Given the description of an element on the screen output the (x, y) to click on. 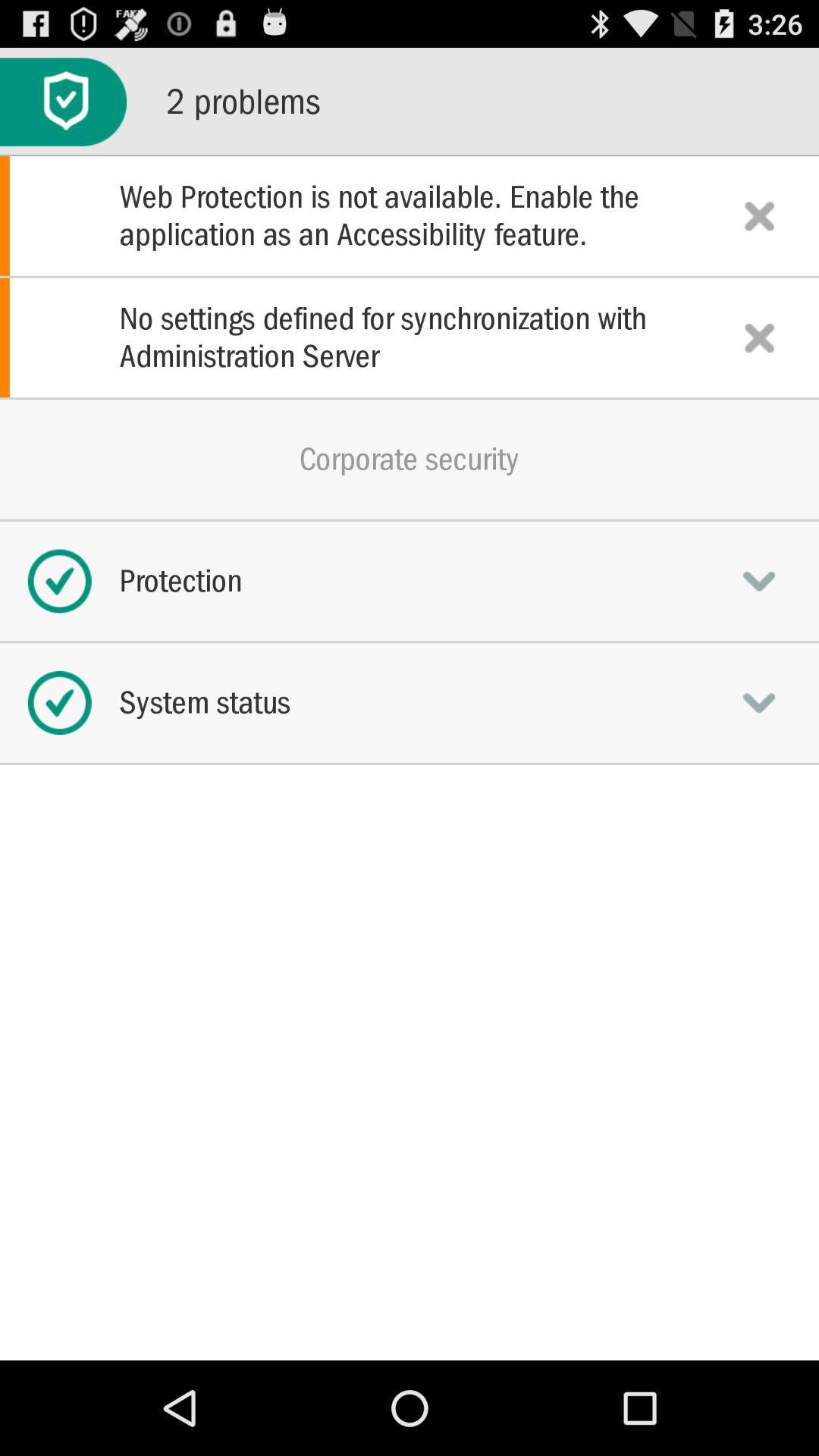
press the icon at the top left corner (63, 102)
